Given the description of an element on the screen output the (x, y) to click on. 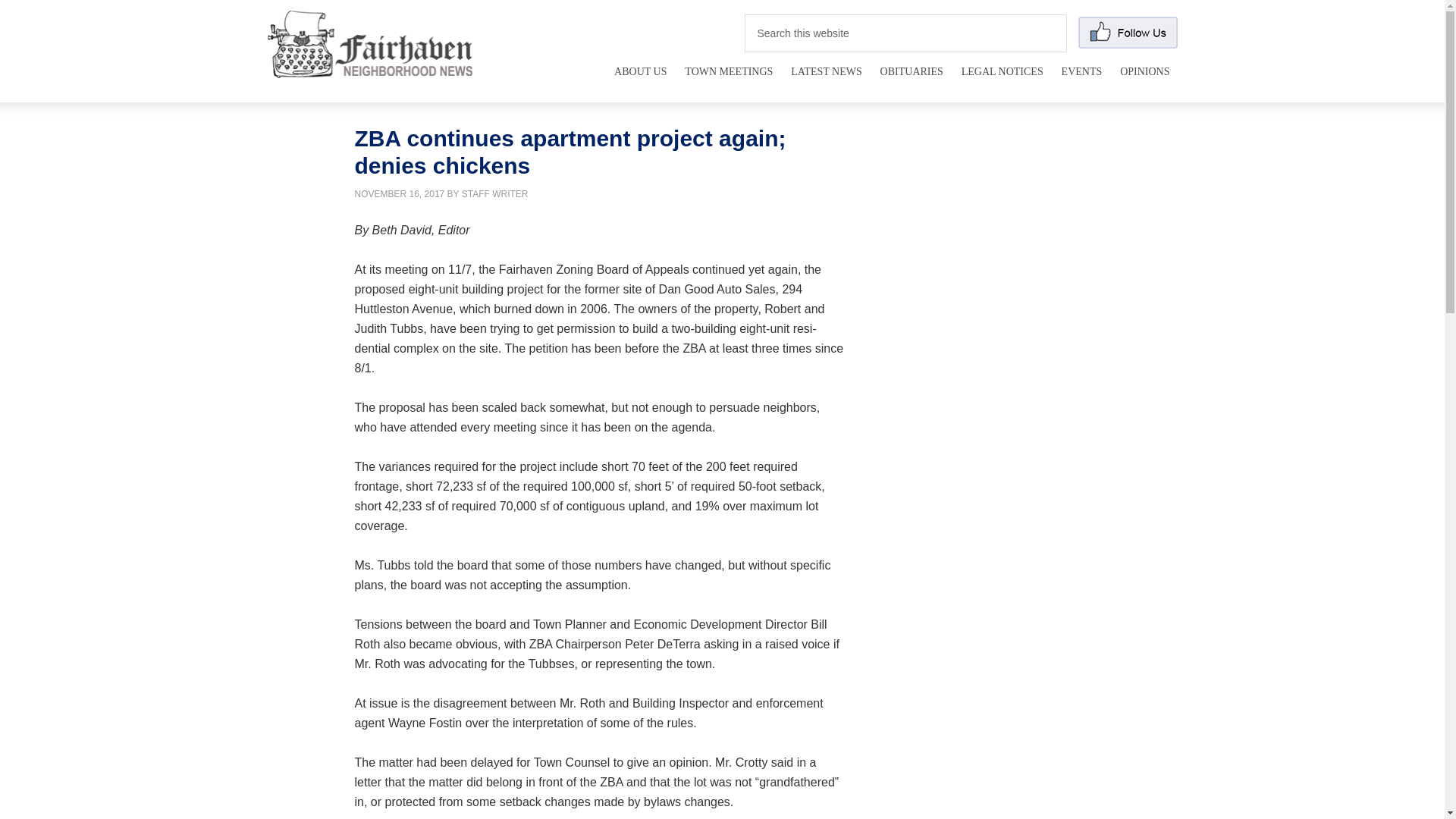
ABOUT US (640, 80)
EVENTS (1081, 80)
TOWN MEETINGS (728, 80)
STAFF WRITER (494, 194)
LATEST NEWS (826, 80)
Fairhaven Neighborhood  News (368, 66)
LEGAL NOTICES (1002, 80)
